Given the description of an element on the screen output the (x, y) to click on. 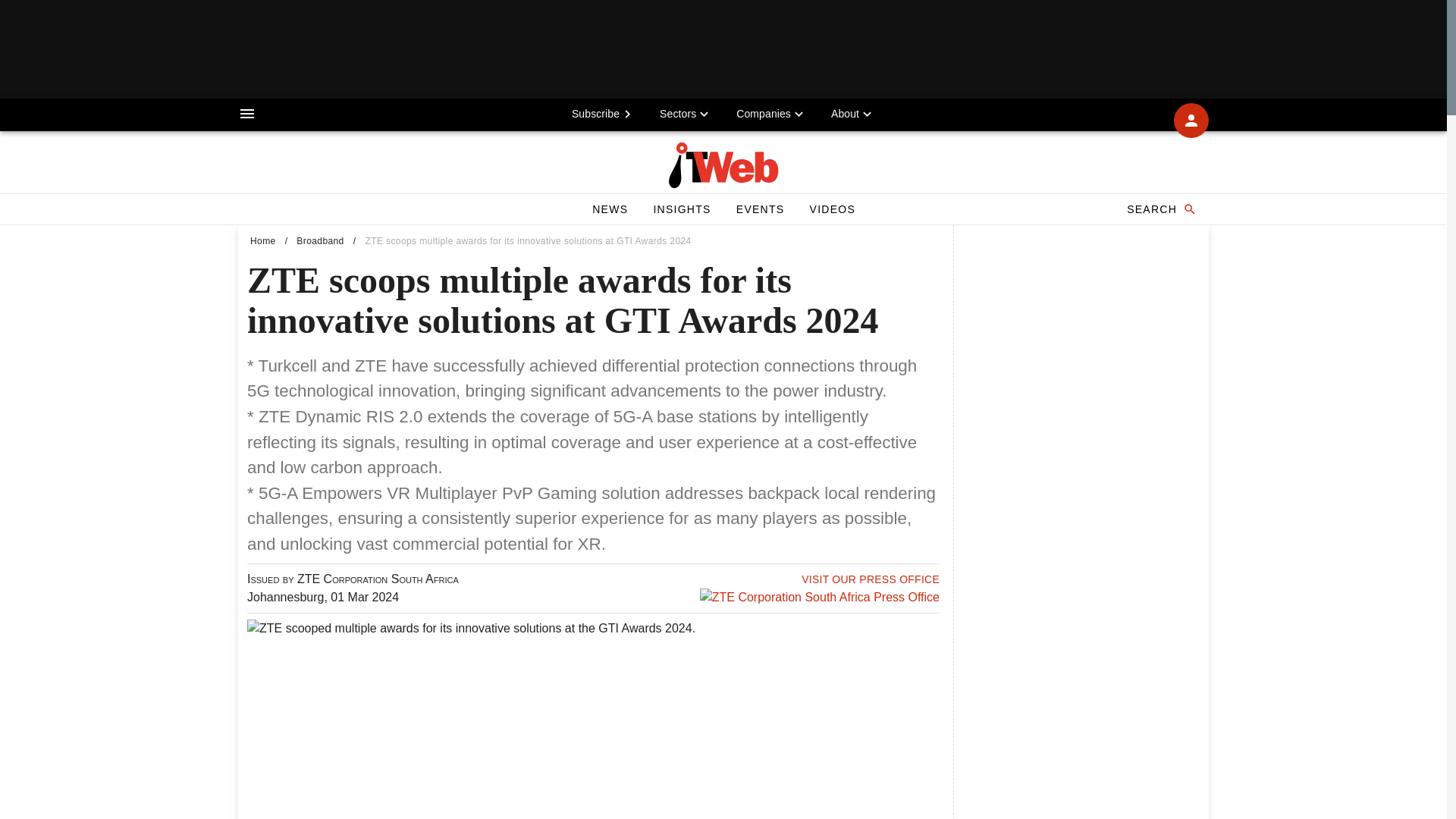
Subscribe (603, 113)
VIDEOS (831, 208)
EVENTS (759, 208)
SEARCH (1160, 209)
Home (263, 241)
NEWS (609, 208)
INSIGHTS (681, 208)
VISIT OUR PRESS OFFICE (870, 579)
Broadband (320, 241)
